Given the description of an element on the screen output the (x, y) to click on. 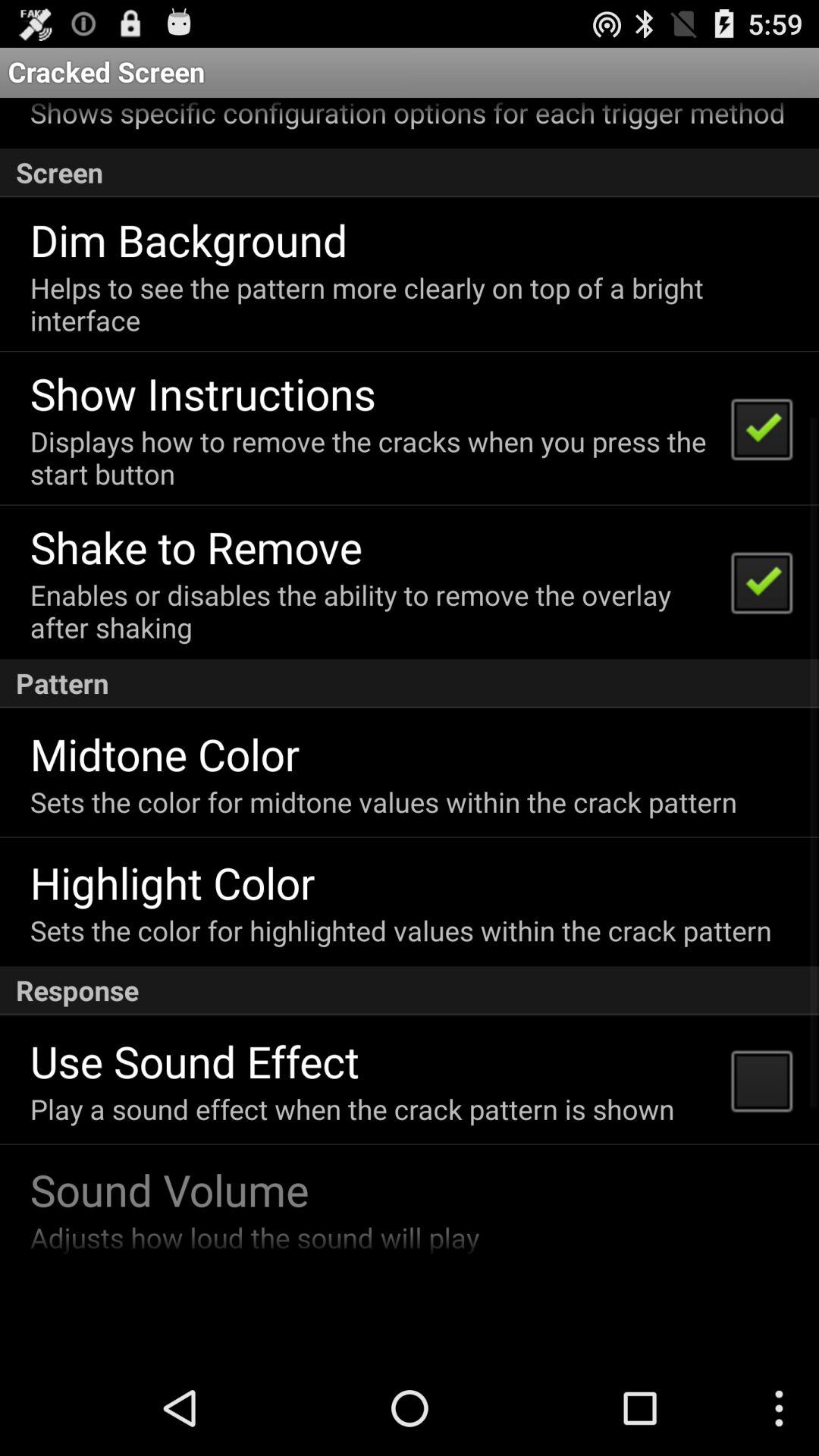
select the response (409, 990)
